Given the description of an element on the screen output the (x, y) to click on. 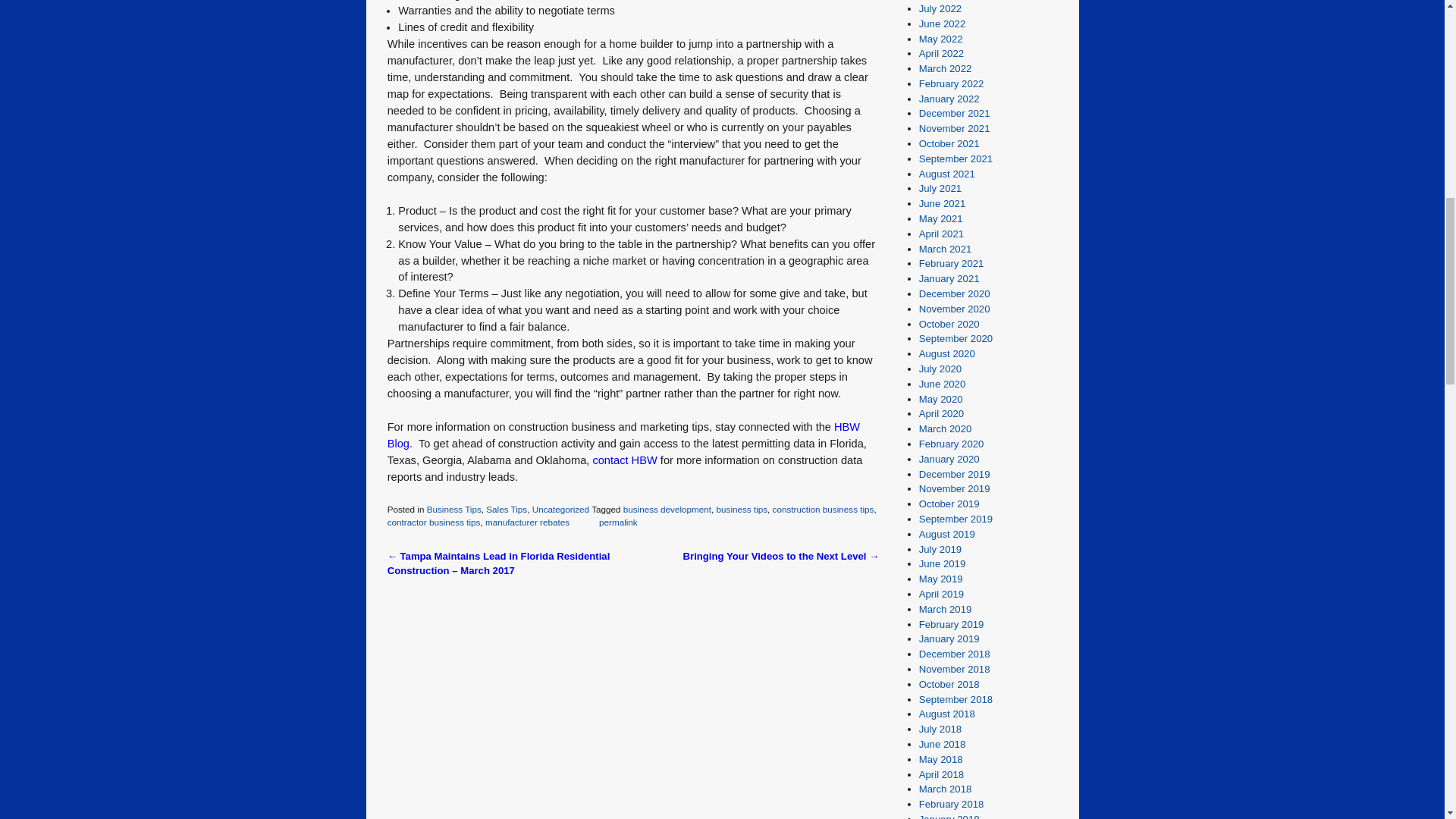
HBW Blog (623, 434)
contact HBW (624, 460)
manufacturer rebates (526, 521)
contractor business tips (433, 521)
Business Tips (453, 509)
business tips (742, 509)
construction business tips (824, 509)
Uncategorized (560, 509)
business development (667, 509)
Sales Tips (506, 509)
permalink (617, 521)
